Given the description of an element on the screen output the (x, y) to click on. 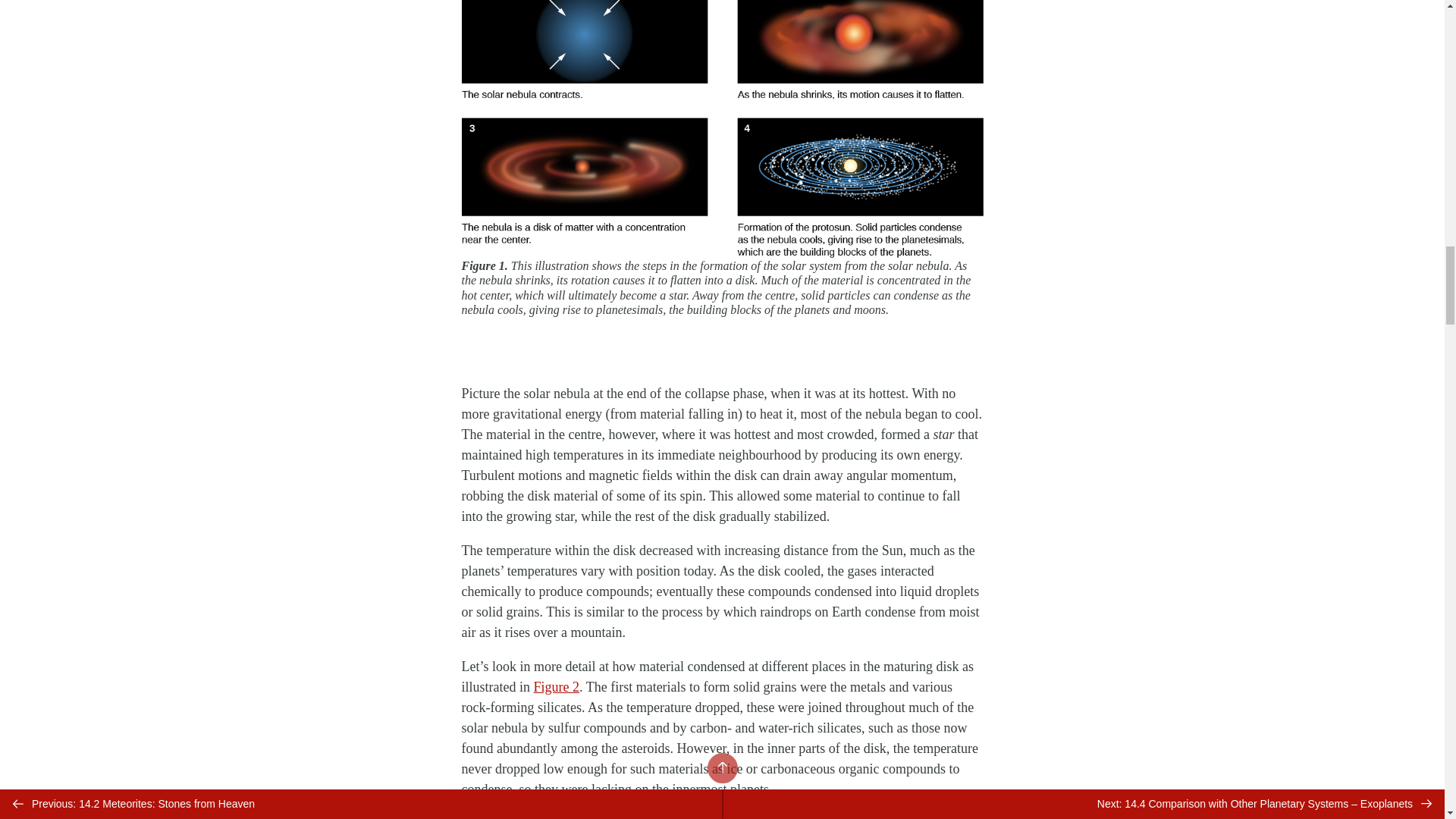
Figure 2 (555, 686)
